Given the description of an element on the screen output the (x, y) to click on. 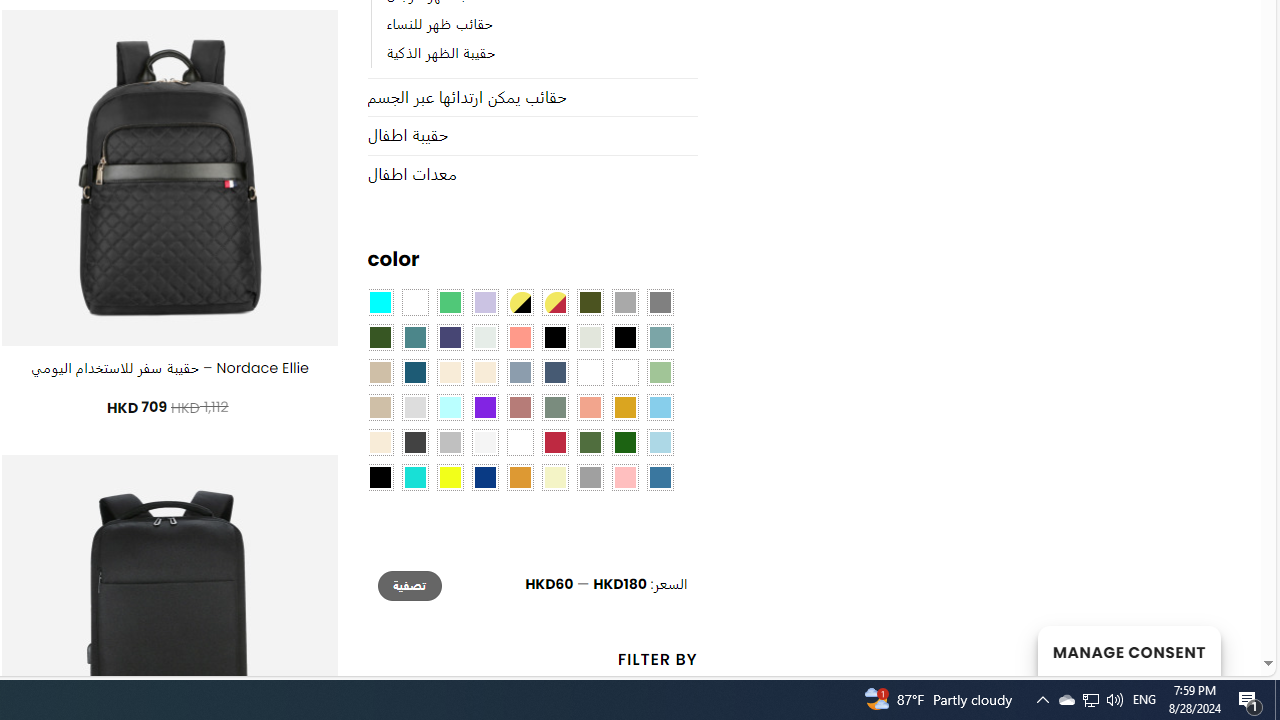
Yellow-Black (519, 303)
Teal (414, 337)
Brownie (379, 372)
Aqua Blue (379, 303)
Blue Sage (659, 337)
